Given the description of an element on the screen output the (x, y) to click on. 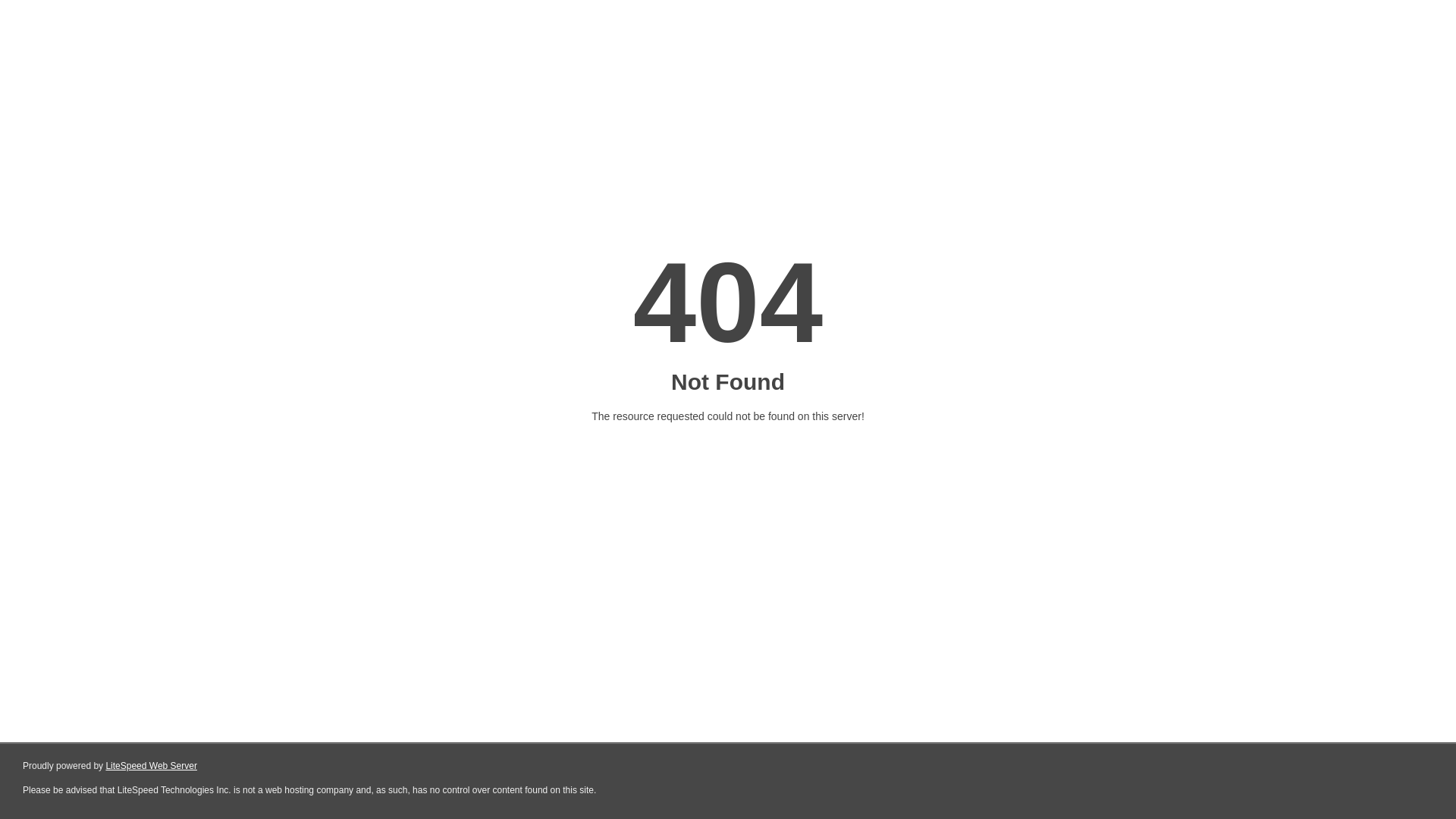
LiteSpeed Web Server Element type: text (151, 765)
